Given the description of an element on the screen output the (x, y) to click on. 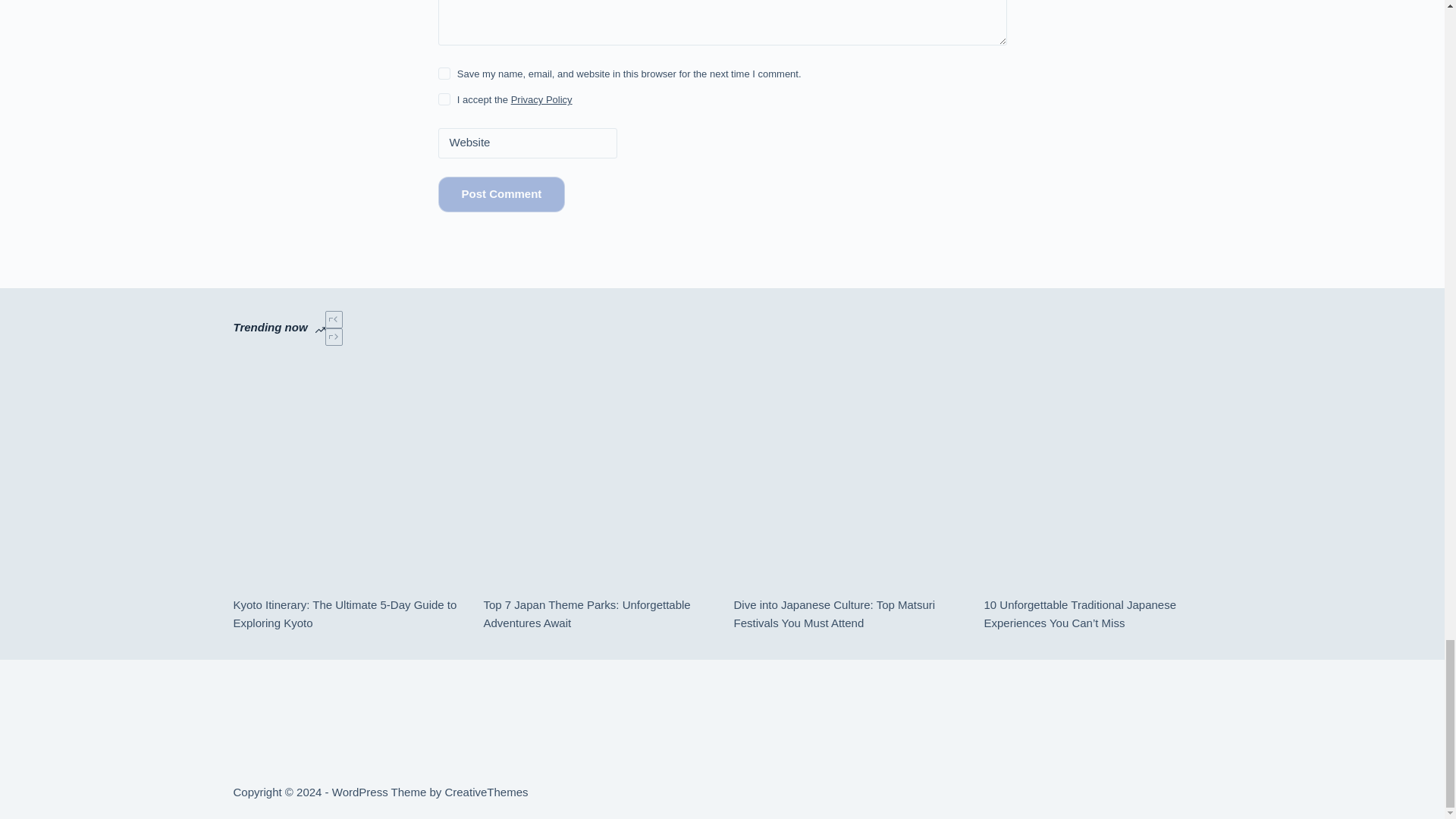
Privacy Policy (541, 99)
on (443, 99)
yes (443, 73)
